Given the description of an element on the screen output the (x, y) to click on. 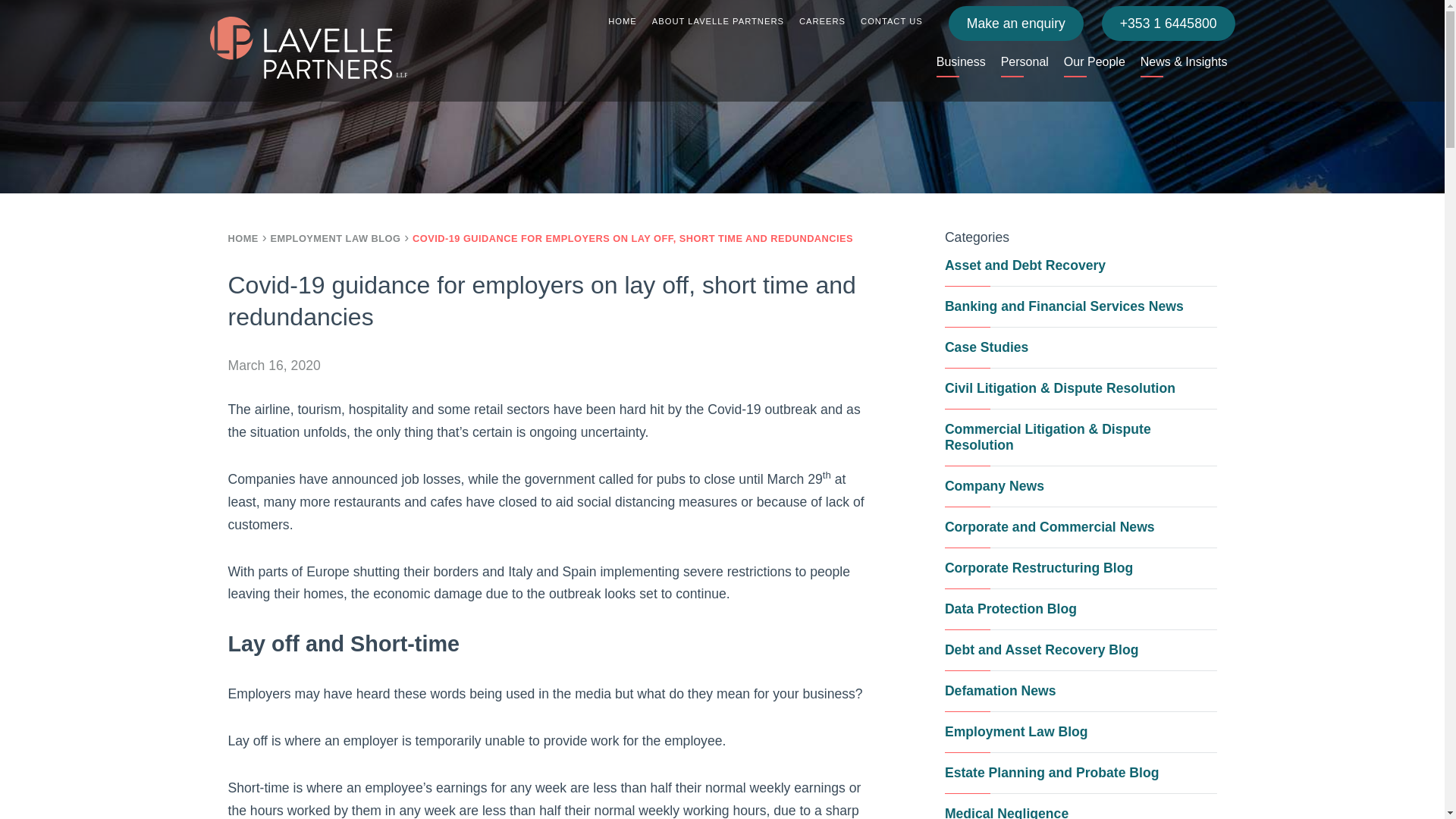
Lavelle Partners (307, 50)
Make an enquiry (1016, 22)
ABOUT LAVELLE PARTNERS (718, 20)
HOME (622, 20)
CONTACT US (891, 20)
CAREERS (822, 20)
Business (960, 61)
